Given the description of an element on the screen output the (x, y) to click on. 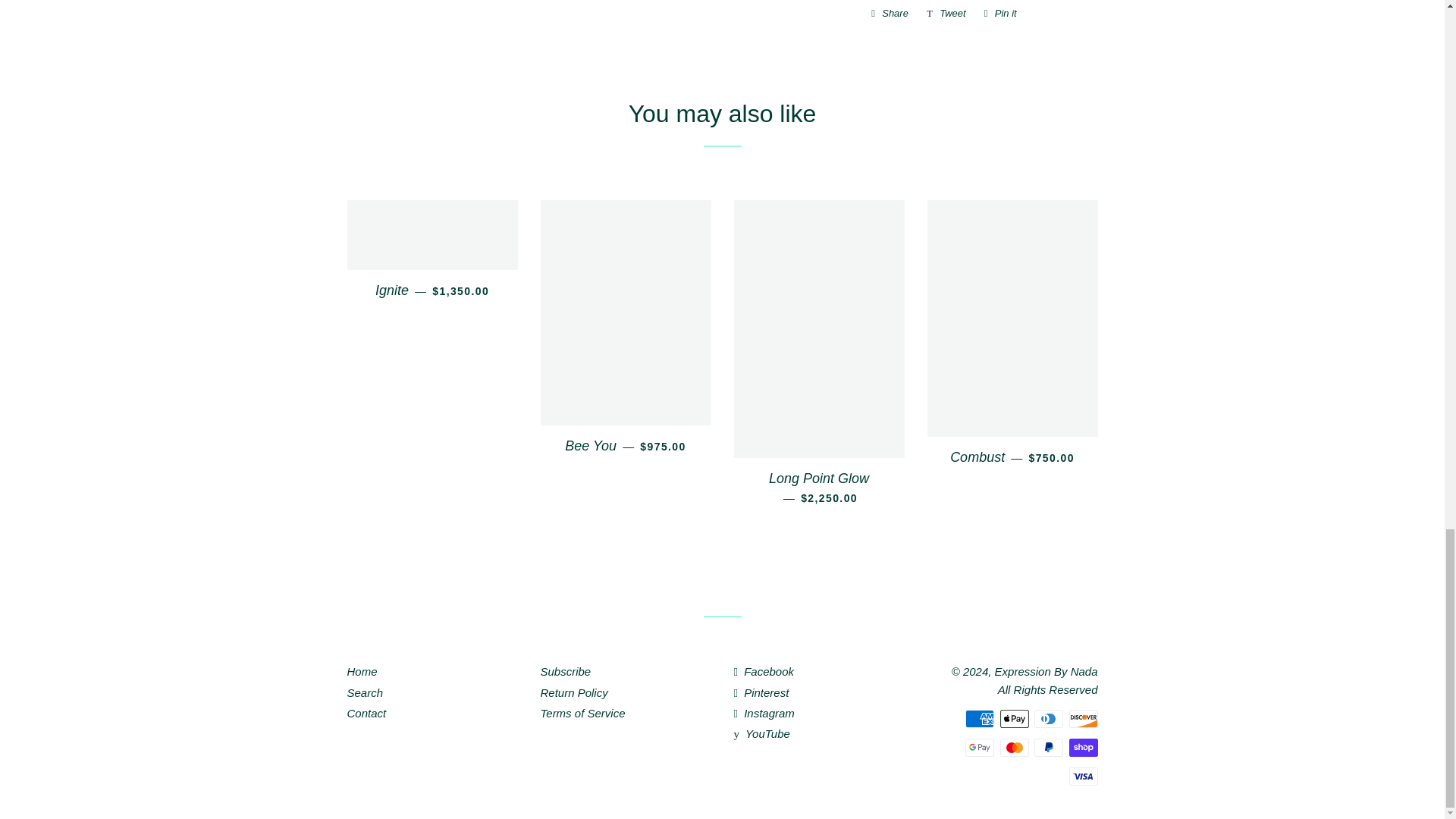
Tweet on Twitter (946, 13)
PayPal (1047, 747)
Pin on Pinterest (1000, 13)
Visa (1082, 776)
Apple Pay (1012, 719)
American Express (979, 719)
Expression By Nada on YouTube (761, 733)
Google Pay (979, 747)
Expression By Nada on Pinterest (761, 691)
Discover (1082, 719)
